Given the description of an element on the screen output the (x, y) to click on. 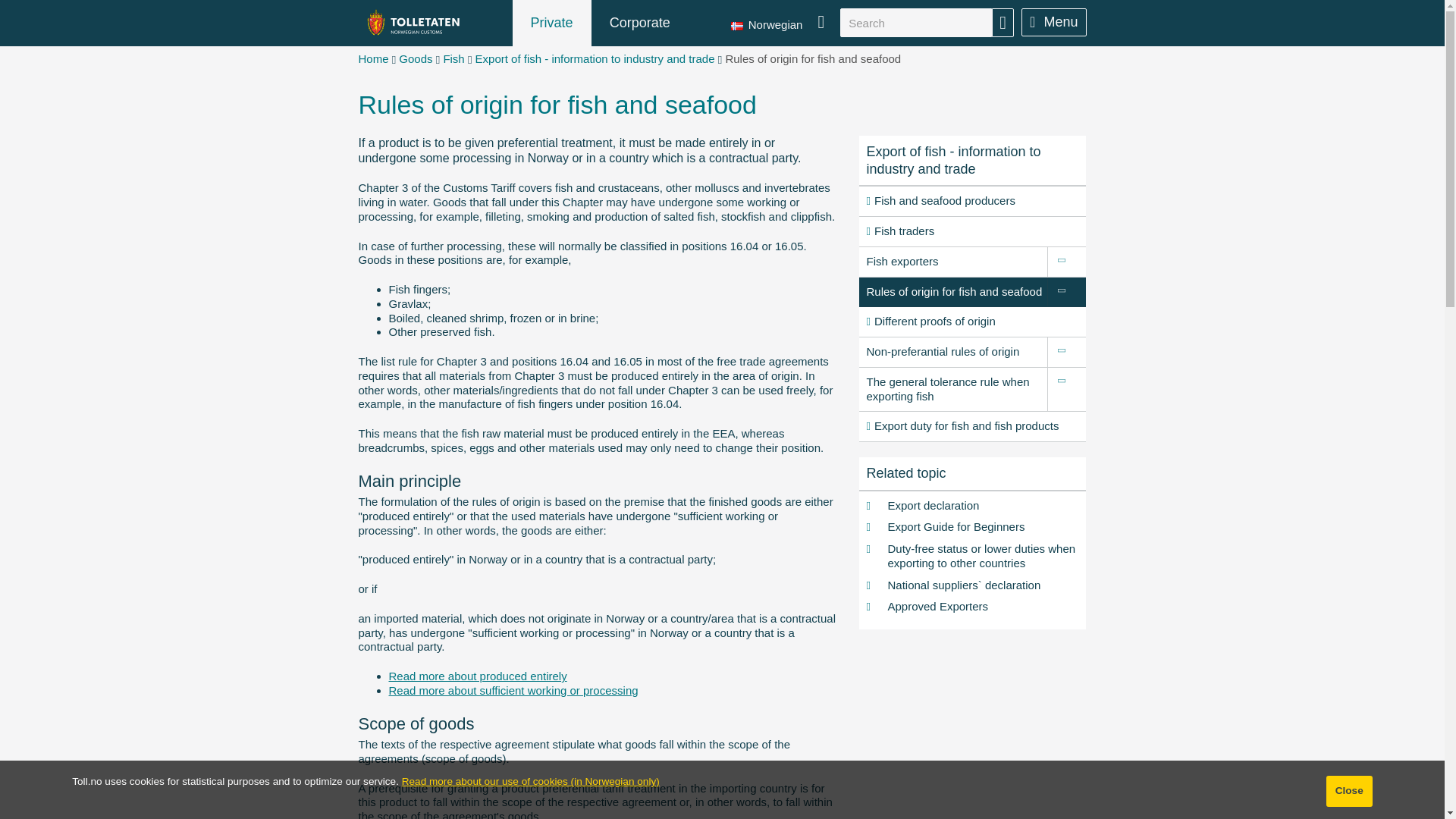
Private (551, 22)
Norwegian (769, 22)
Goods (415, 58)
Search (915, 22)
Corporate (639, 22)
Home (373, 58)
Fish (453, 58)
